Given the description of an element on the screen output the (x, y) to click on. 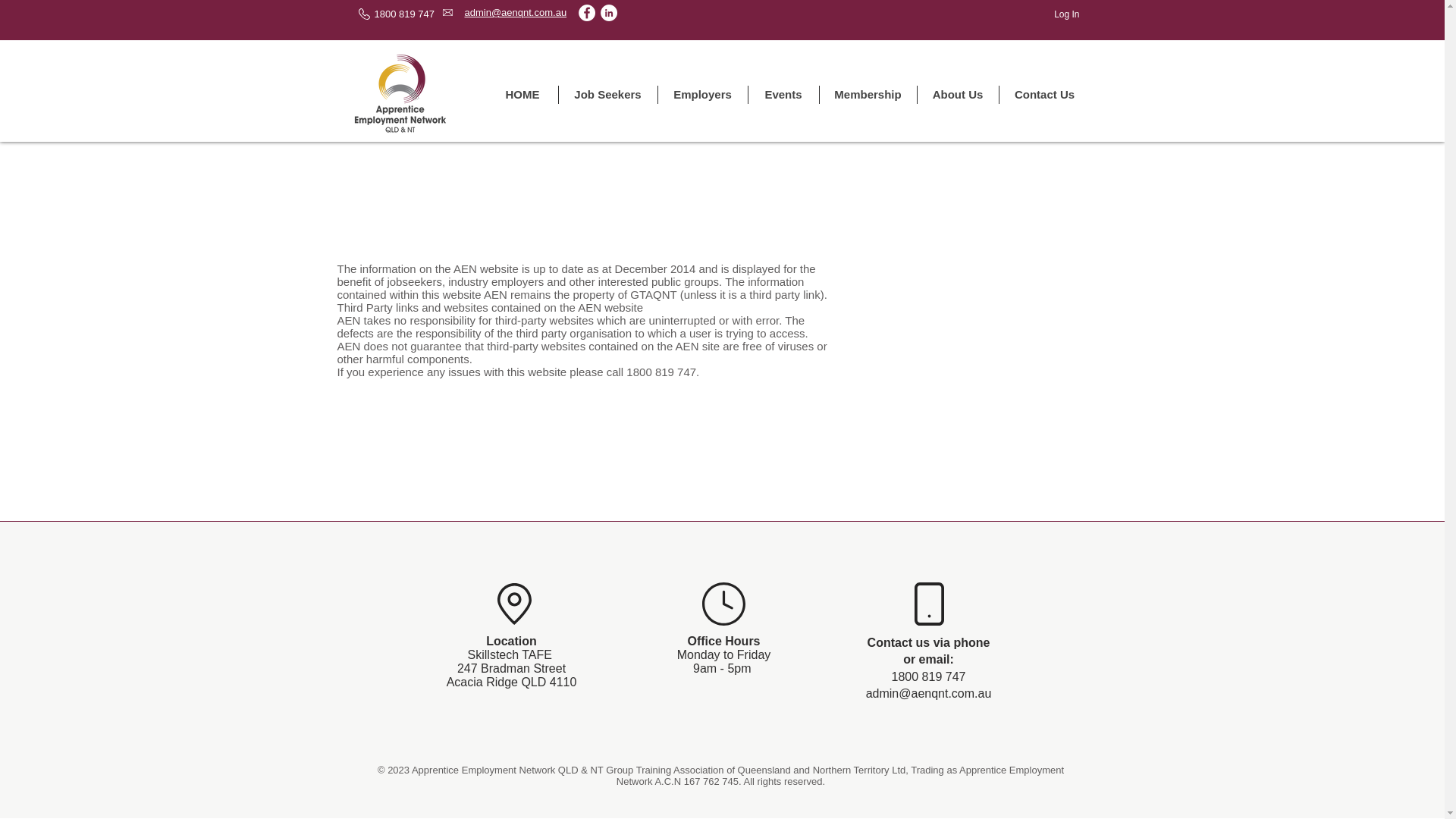
1800 819 747 (928, 676)
Log In (1066, 14)
Contact Us (1044, 94)
HOME (521, 94)
